Given the description of an element on the screen output the (x, y) to click on. 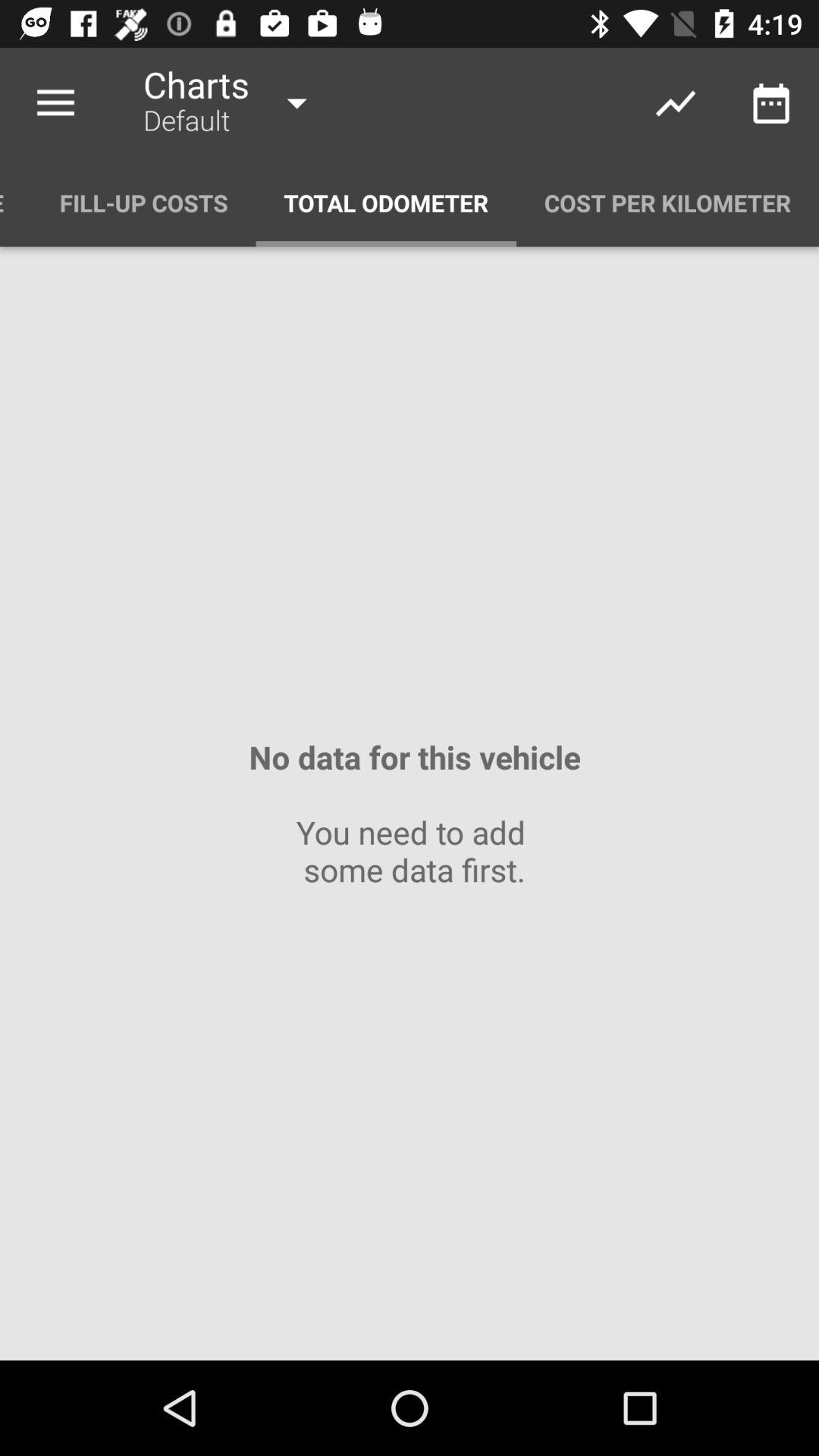
click the item next to the cost per kilometer item (385, 202)
